Given the description of an element on the screen output the (x, y) to click on. 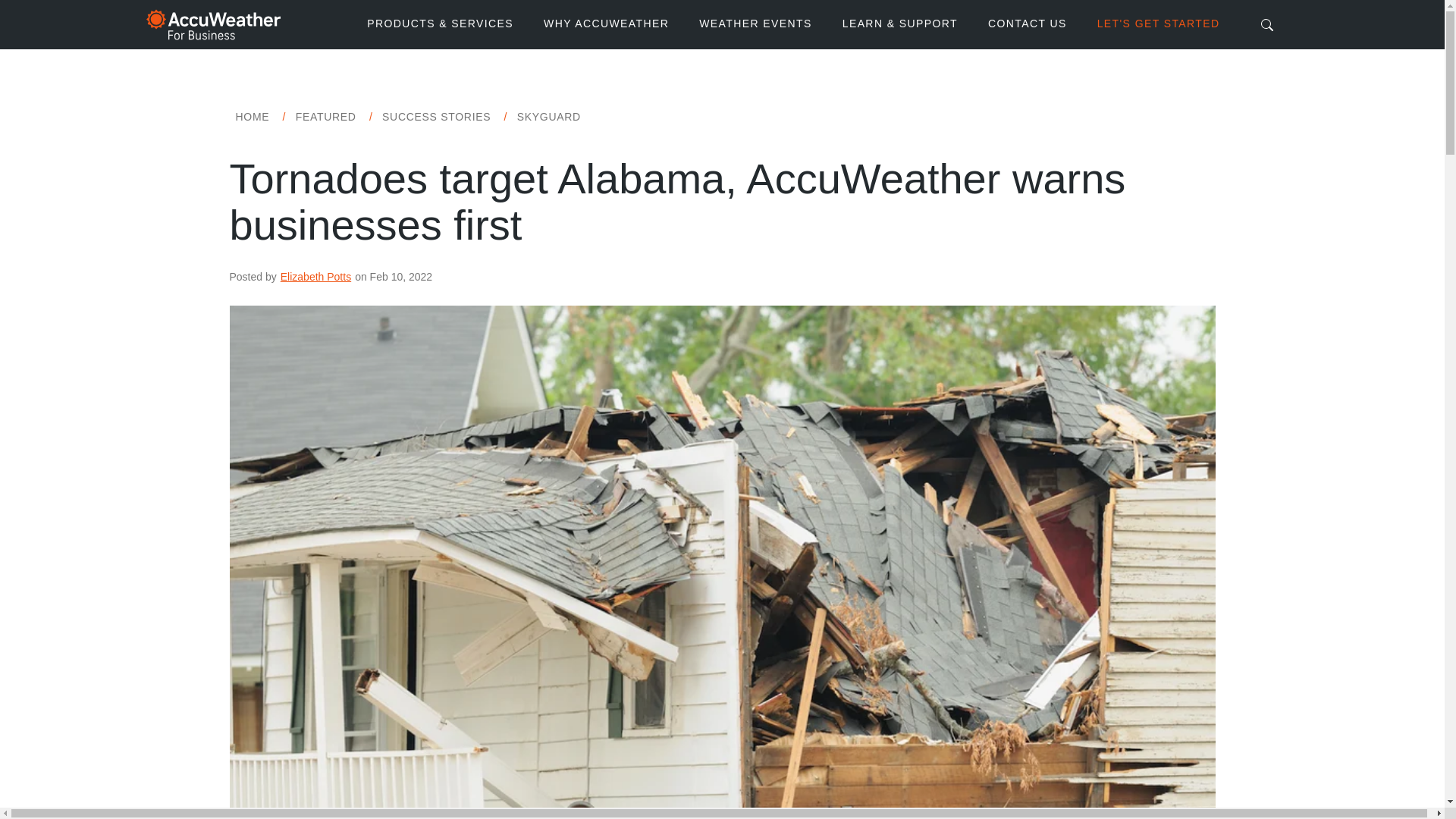
accuweather-business-white-01 (212, 24)
CONTACT US (1026, 24)
LET'S GET STARTED (1157, 24)
WEATHER EVENTS (755, 24)
WHY ACCUWEATHER (606, 24)
